Given the description of an element on the screen output the (x, y) to click on. 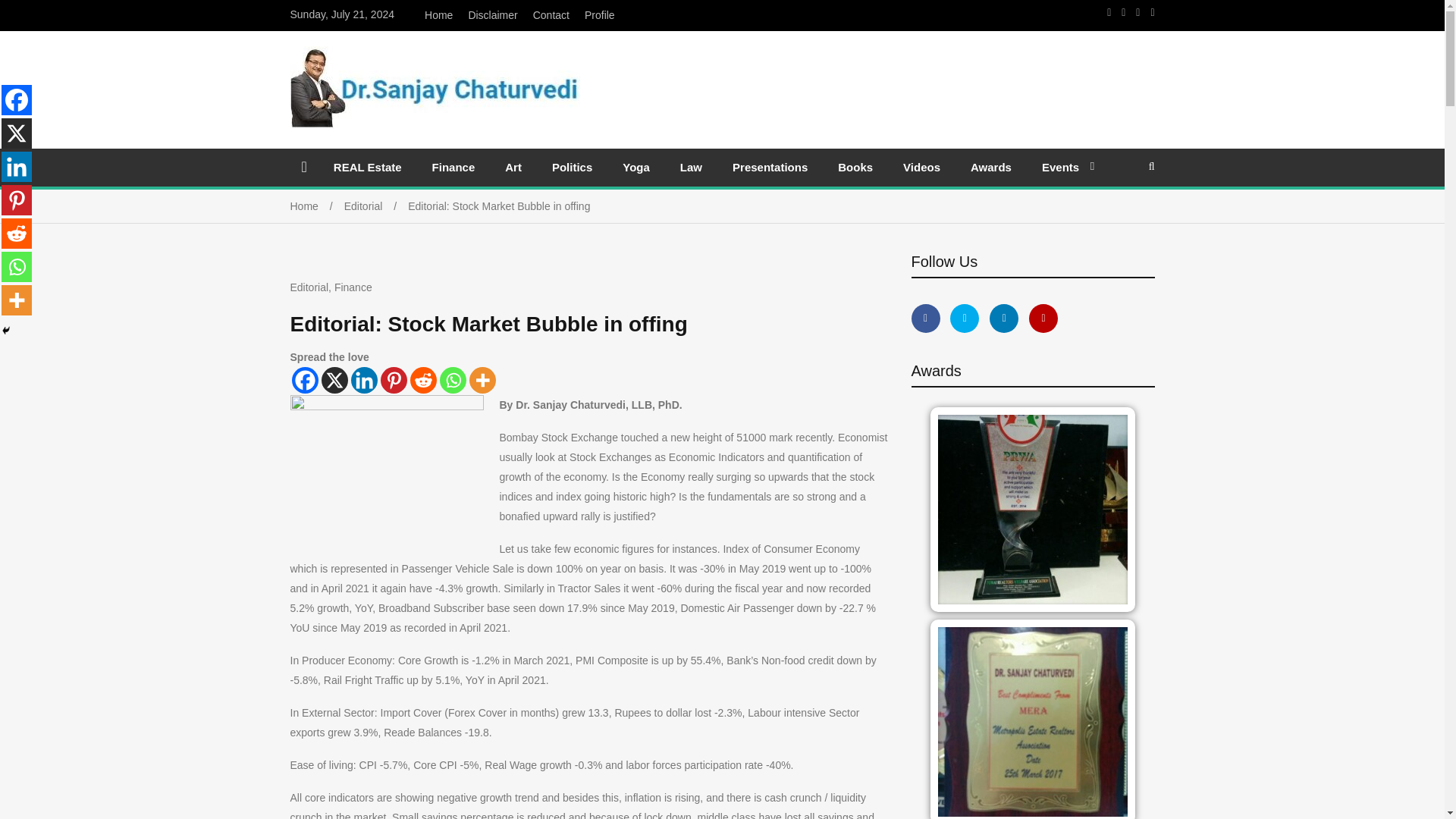
Reddit (16, 233)
Home (438, 15)
Finance (453, 166)
Pinterest (16, 200)
Politics (572, 166)
Hide (5, 330)
Events (1064, 166)
Reddit (422, 379)
Whatsapp (16, 266)
Facebook (304, 379)
Pinterest (393, 379)
More (16, 300)
Books (855, 166)
Yoga (636, 166)
Whatsapp (452, 379)
